Given the description of an element on the screen output the (x, y) to click on. 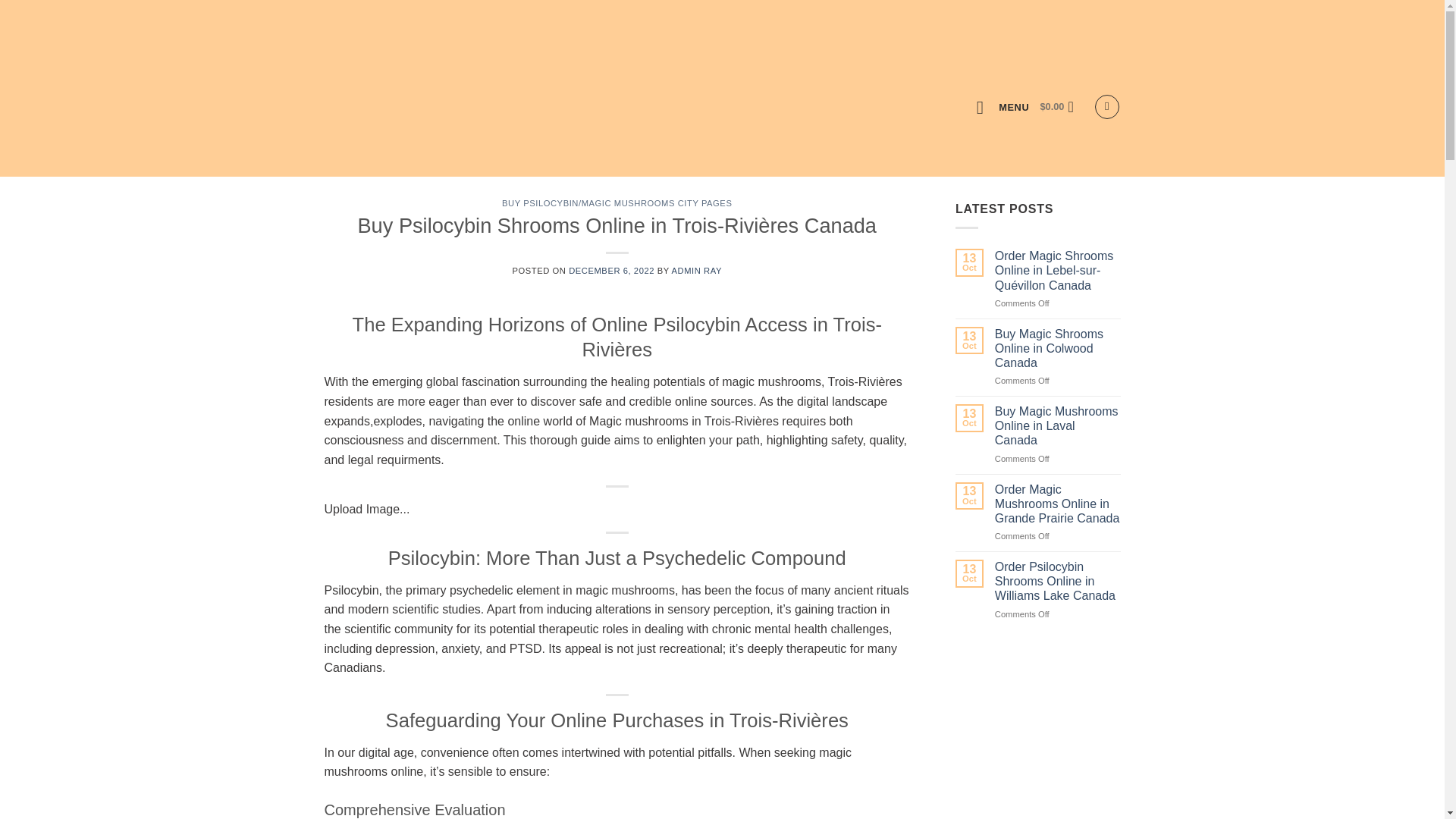
Buy Magic Shrooms Online in Colwood Canada (1057, 348)
ADMIN RAY (696, 270)
DECEMBER 6, 2022 (611, 270)
Buy Magic Mushrooms Online in Laval Canada (1057, 425)
MENU (1002, 107)
Cart (1061, 106)
